Given the description of an element on the screen output the (x, y) to click on. 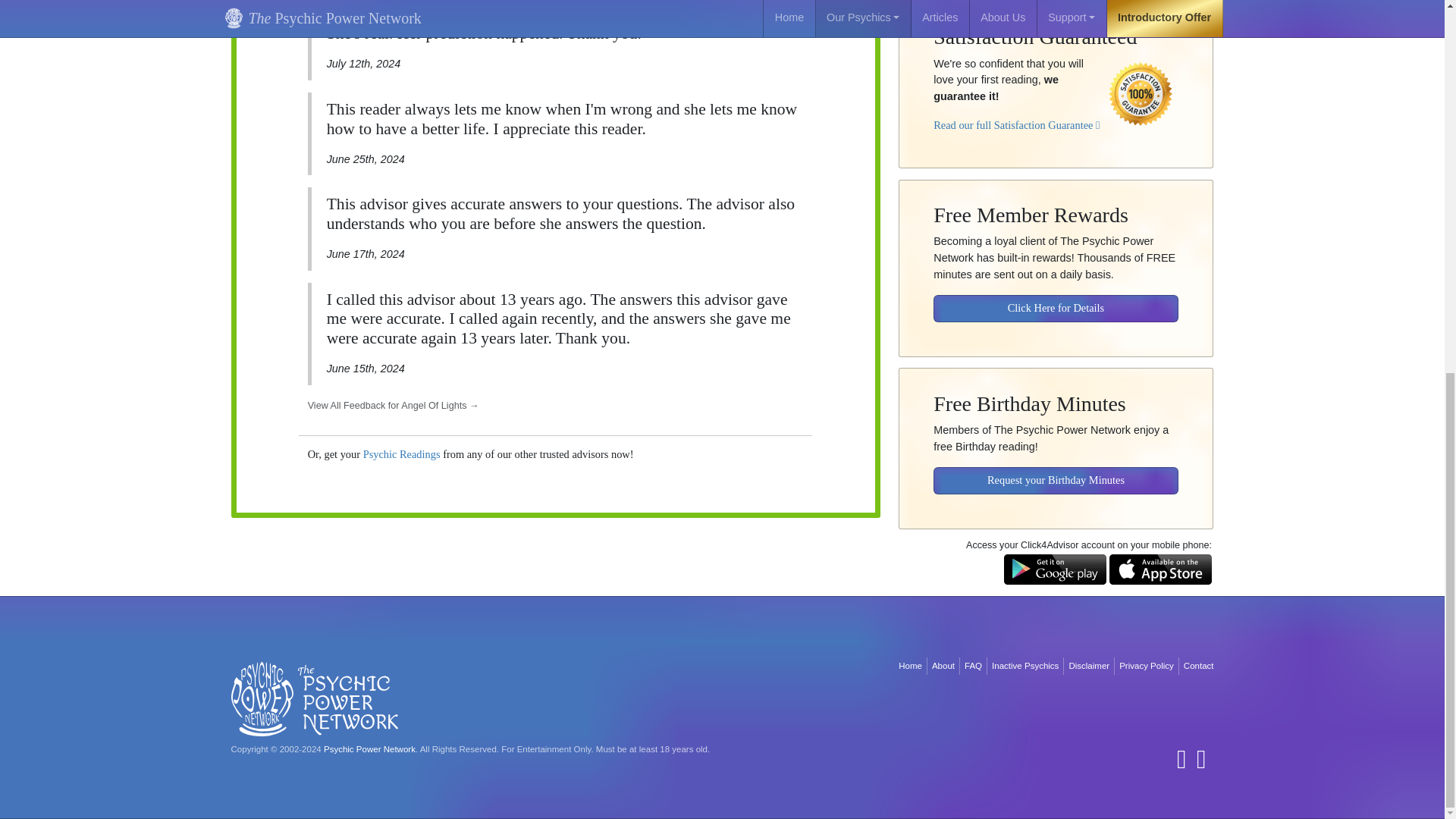
Home (909, 665)
Psychic Readings (401, 453)
